Given the description of an element on the screen output the (x, y) to click on. 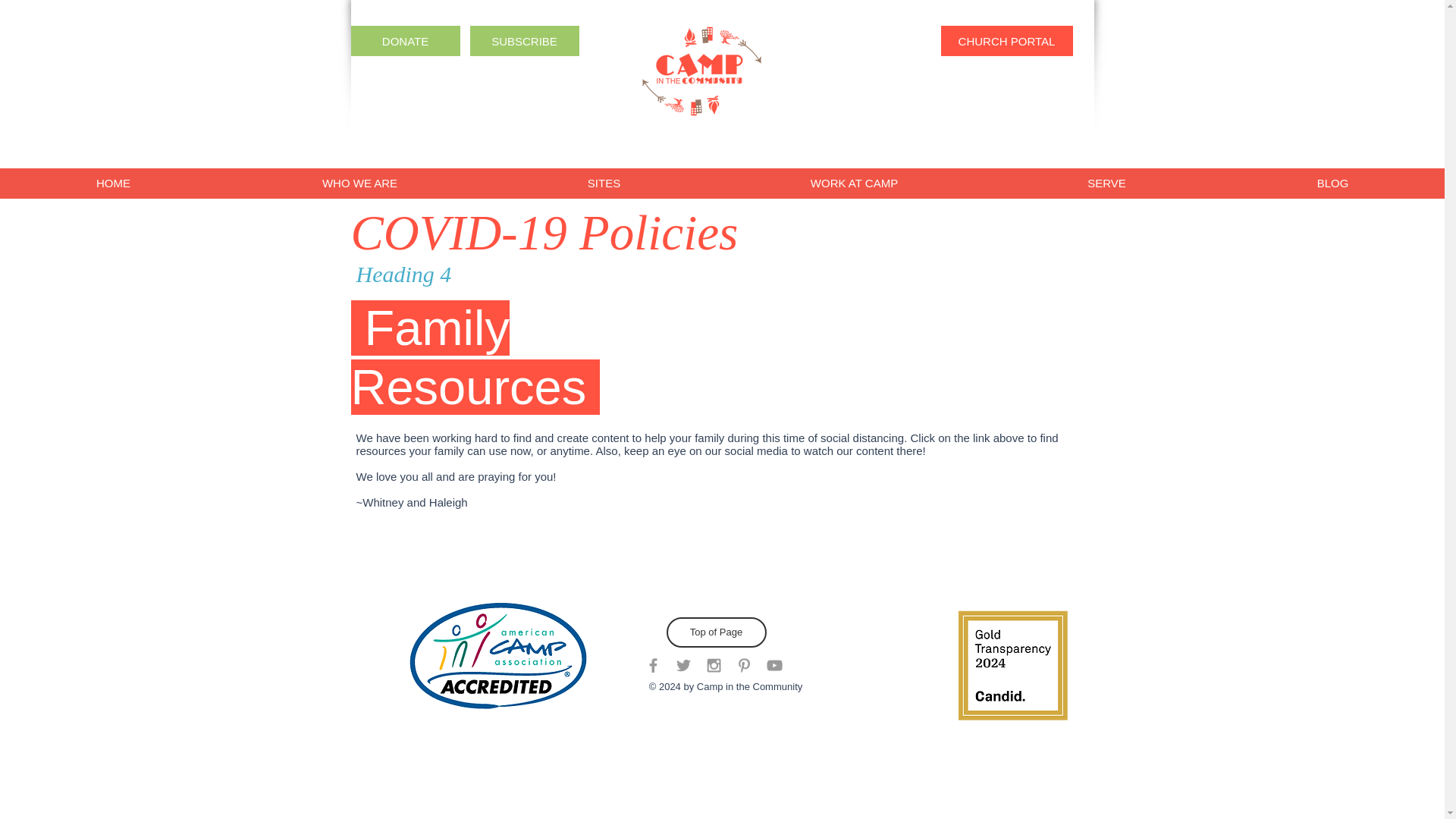
SITES (603, 183)
HOME (113, 183)
 Family Resources  (474, 357)
WORK AT CAMP (853, 183)
WHO WE ARE (359, 183)
SERVE (1106, 183)
SUBSCRIBE (524, 40)
DONATE (405, 40)
Top of Page (715, 632)
CHURCH PORTAL (1005, 40)
